Given the description of an element on the screen output the (x, y) to click on. 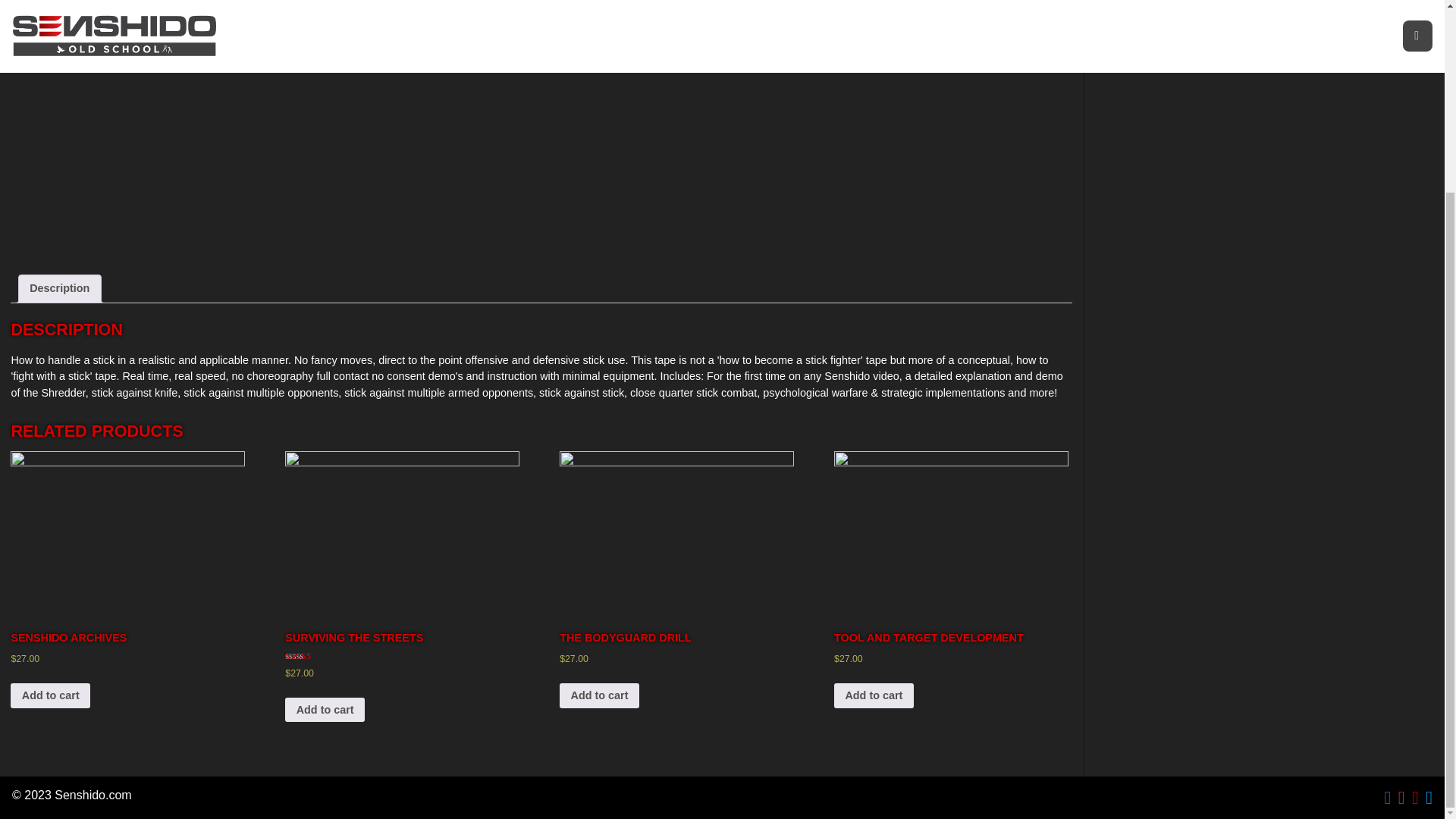
Add to cart (599, 695)
Add to cart (325, 709)
Description (58, 288)
Video Downloads (766, 1)
Add to cart (874, 695)
Add to cart (50, 695)
Video Downloads (655, 1)
